Given the description of an element on the screen output the (x, y) to click on. 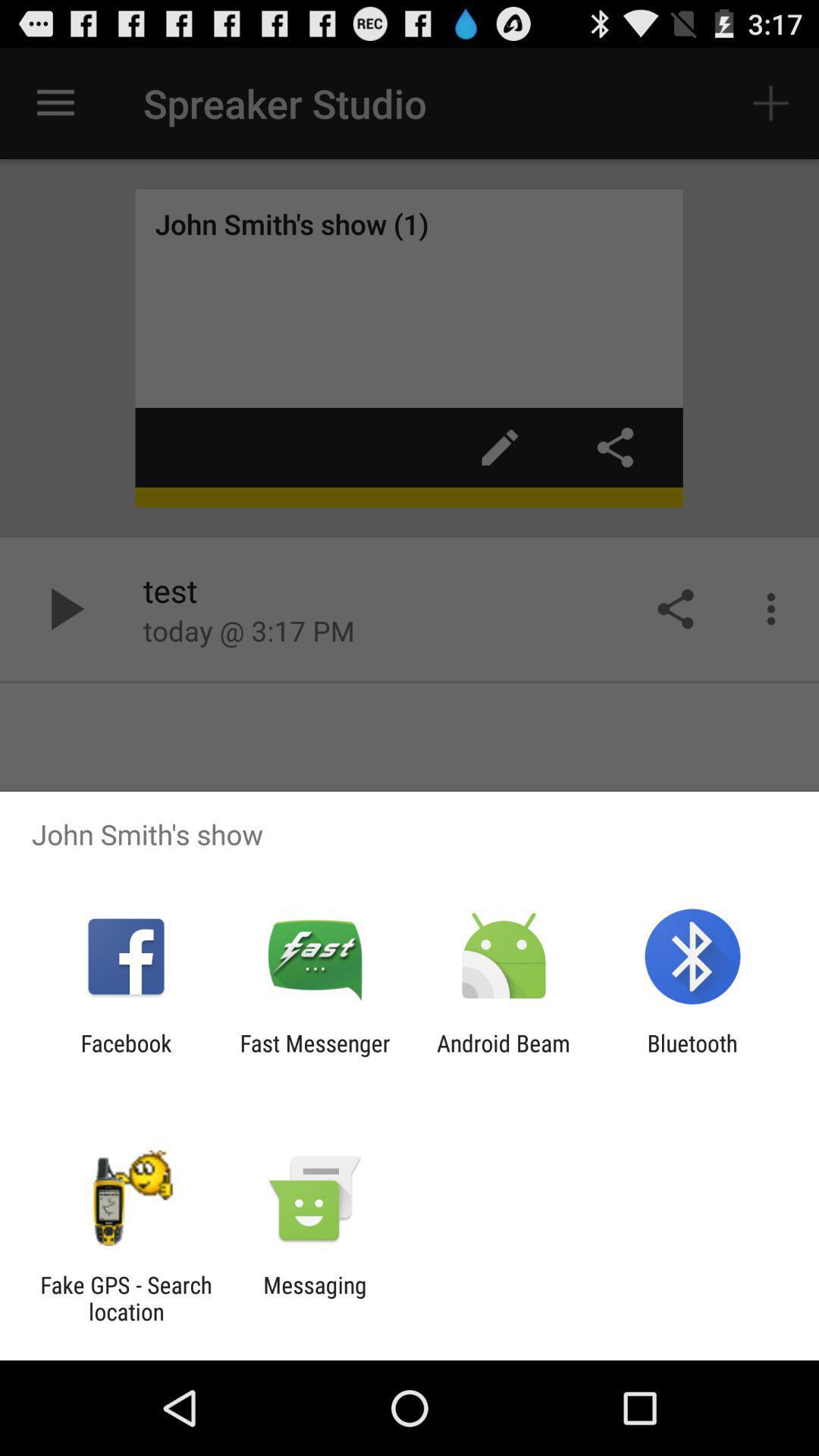
press the item to the right of the fast messenger (503, 1056)
